Given the description of an element on the screen output the (x, y) to click on. 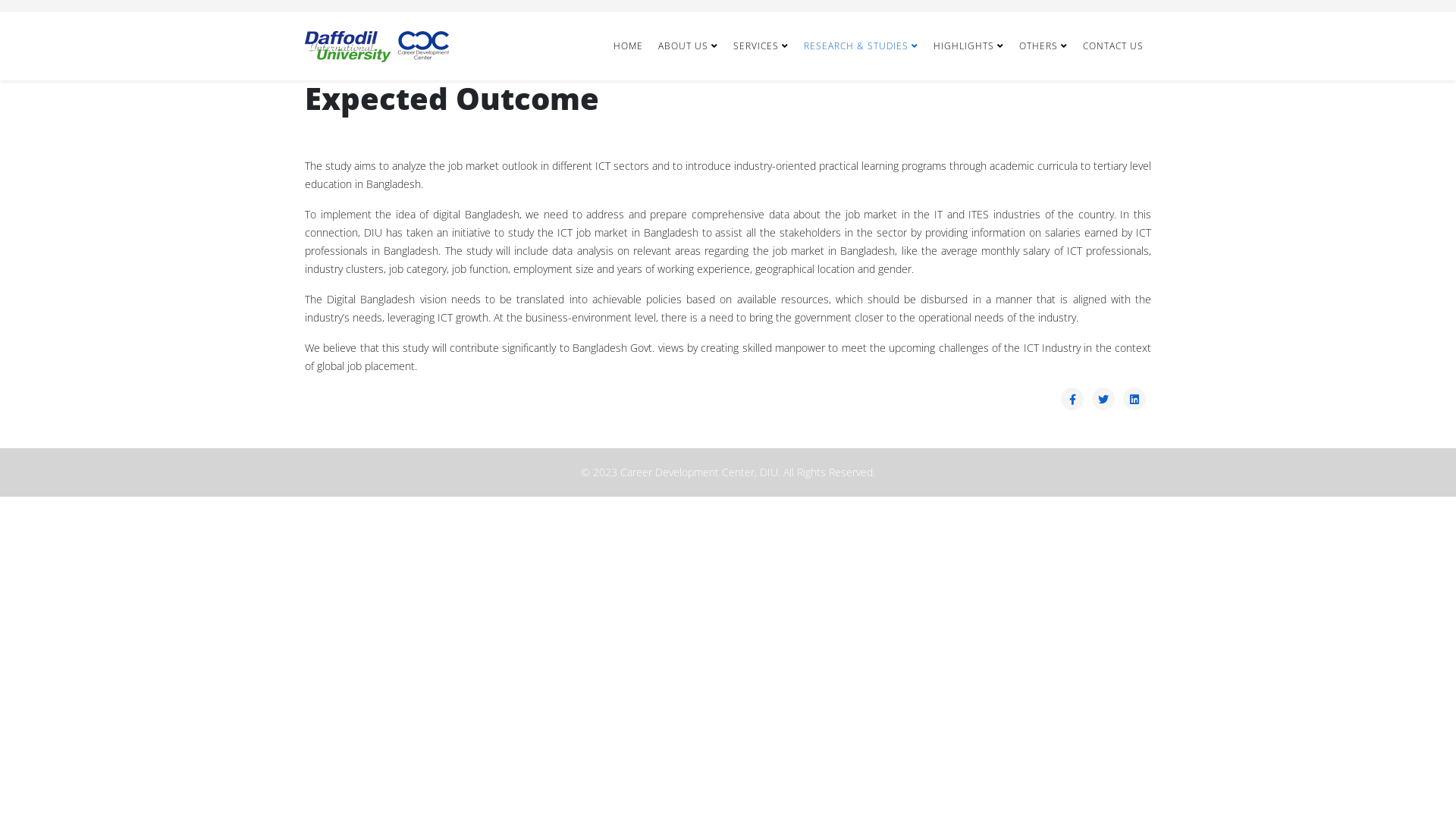
RESEARCH & STUDIES Element type: text (860, 46)
OTHERS Element type: text (1043, 46)
SERVICES Element type: text (760, 46)
HIGHLIGHTS Element type: text (968, 46)
ABOUT US Element type: text (687, 46)
CONTACT US Element type: text (1113, 46)
HOME Element type: text (627, 46)
